Given the description of an element on the screen output the (x, y) to click on. 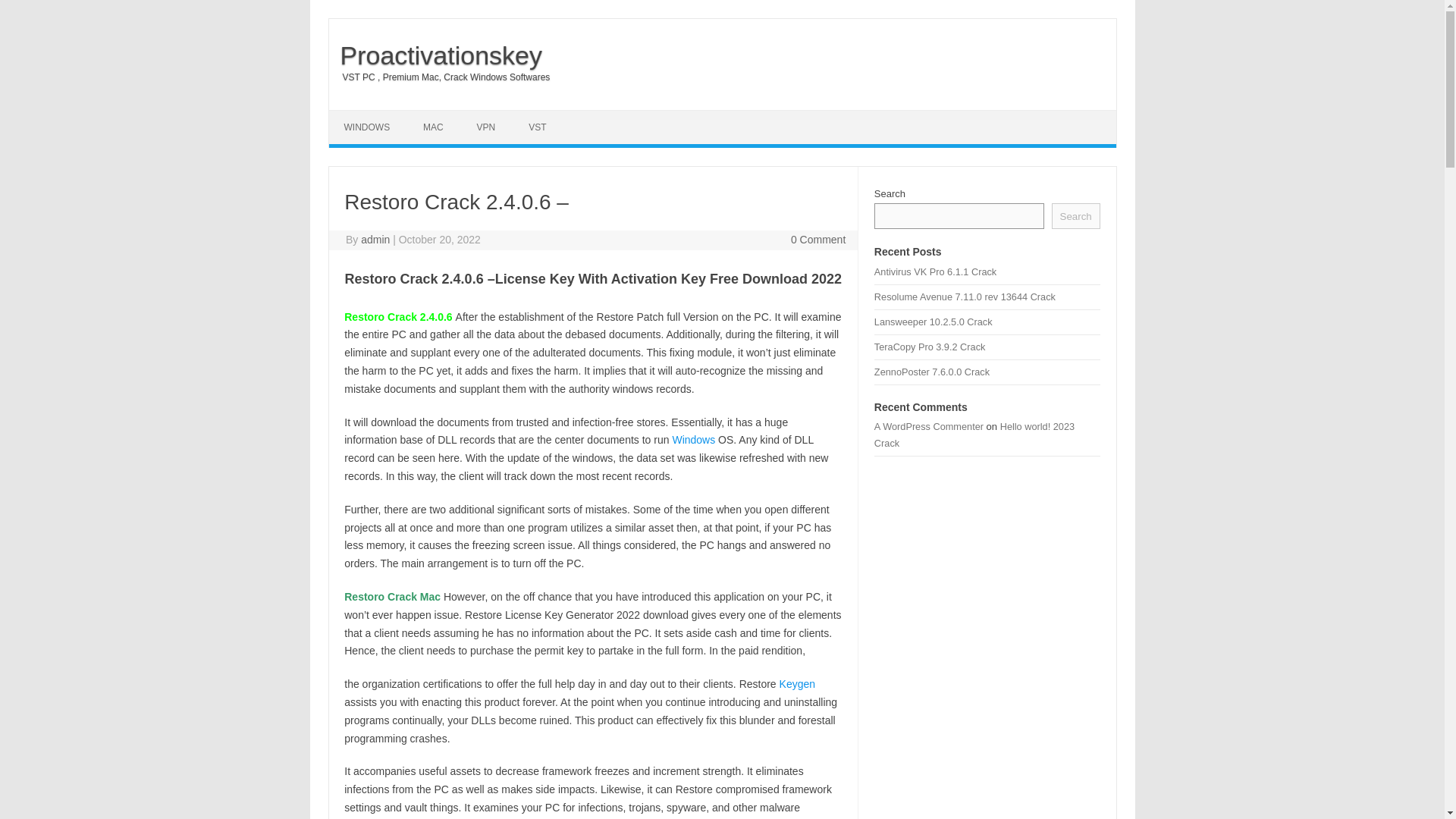
0 Comment (817, 239)
Restoro Crack 2.4.0.6 (398, 316)
Proactivationskey (435, 54)
Proactivationskey (435, 54)
Resolume Avenue 7.11.0 rev 13644 Crack (965, 296)
Windows (692, 439)
Skip to content (363, 114)
WINDOWS (367, 127)
Keygen (796, 684)
Lansweeper 10.2.5.0 Crack (933, 321)
